Given the description of an element on the screen output the (x, y) to click on. 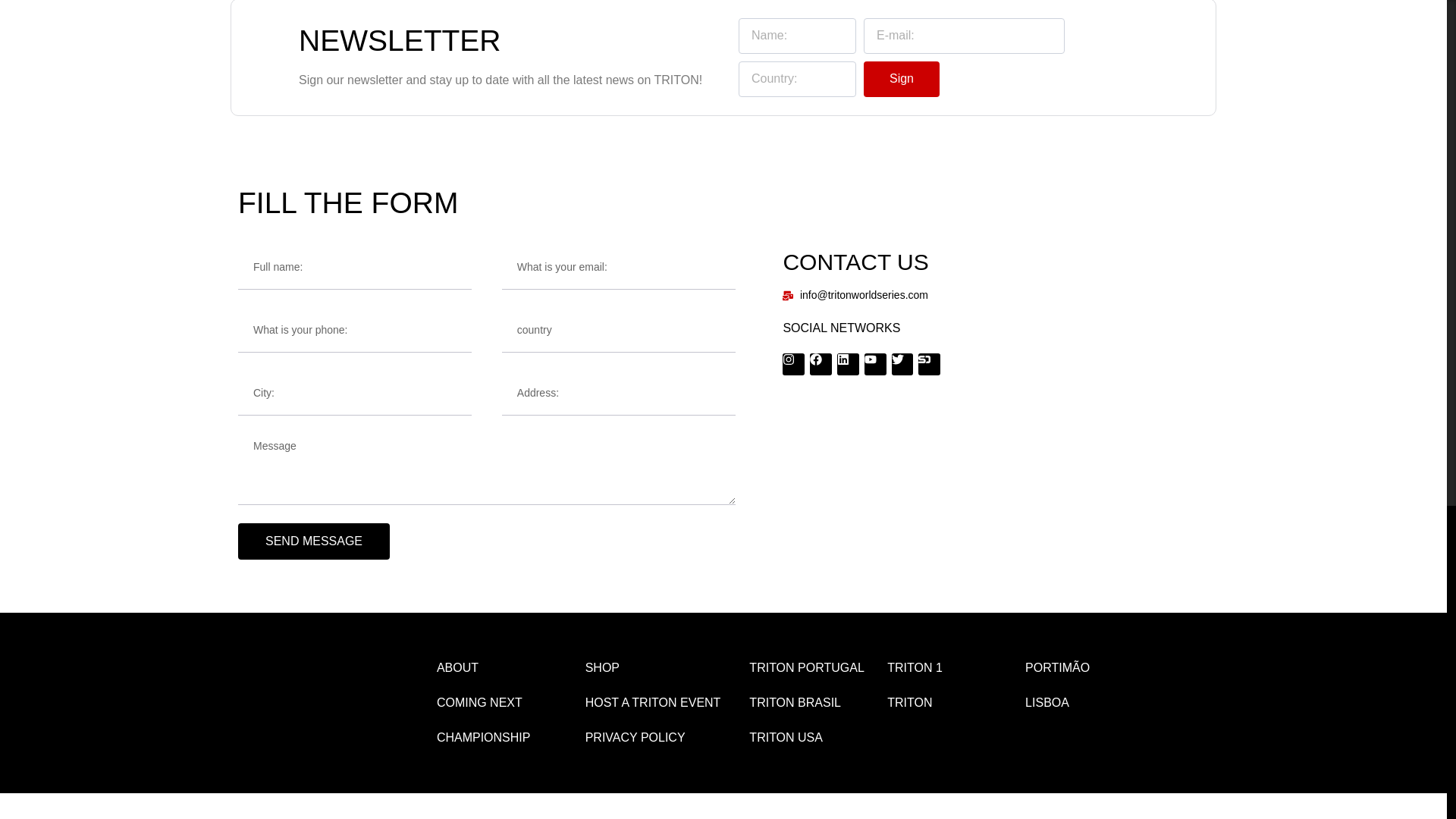
Sign (901, 79)
